Given the description of an element on the screen output the (x, y) to click on. 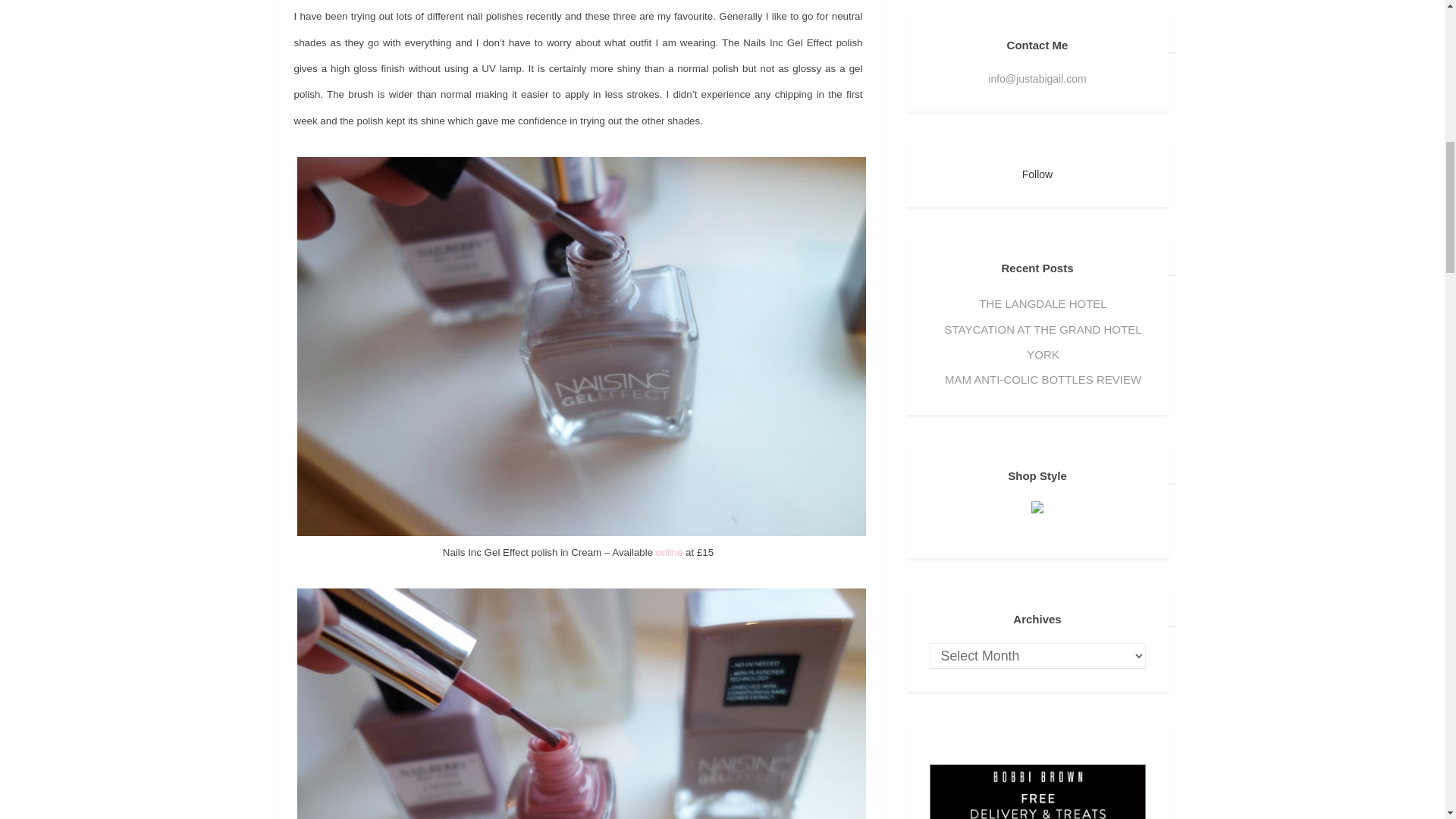
online (669, 552)
